Given the description of an element on the screen output the (x, y) to click on. 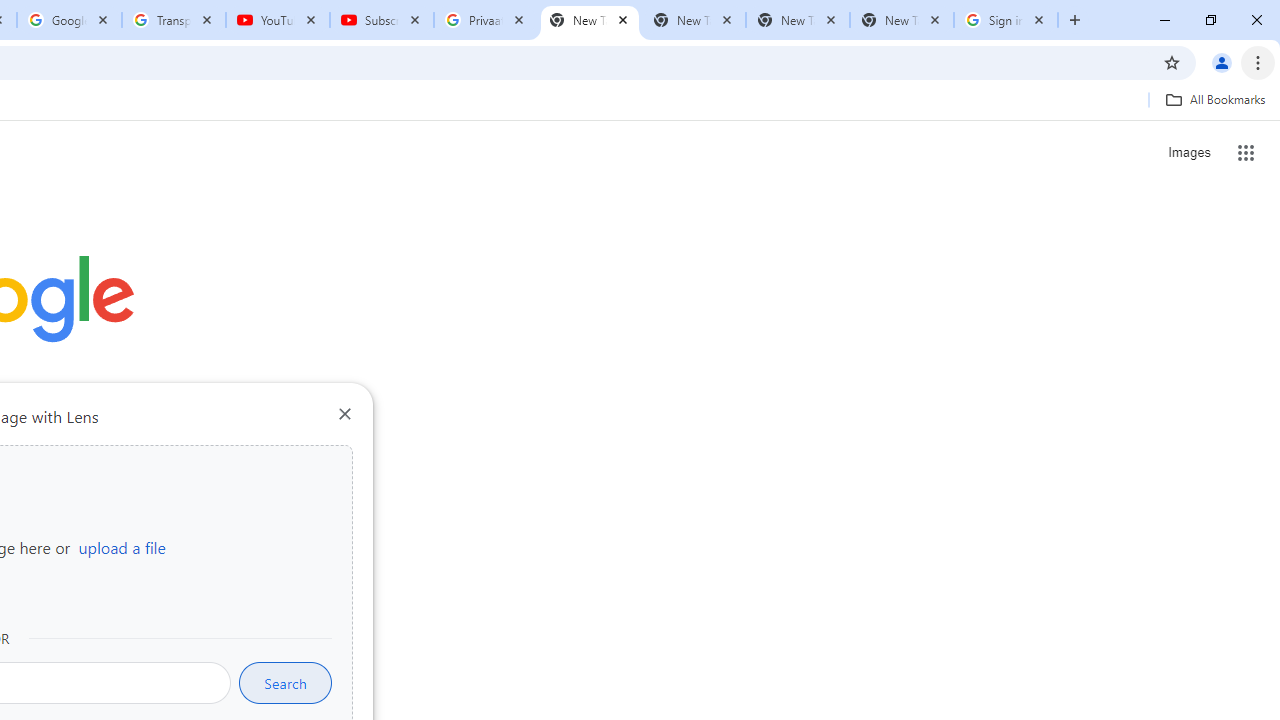
Subscriptions - YouTube (381, 20)
More actions for Sign in shortcut (152, 466)
Sign in - Google Accounts (1005, 20)
upload a file (122, 547)
